Given the description of an element on the screen output the (x, y) to click on. 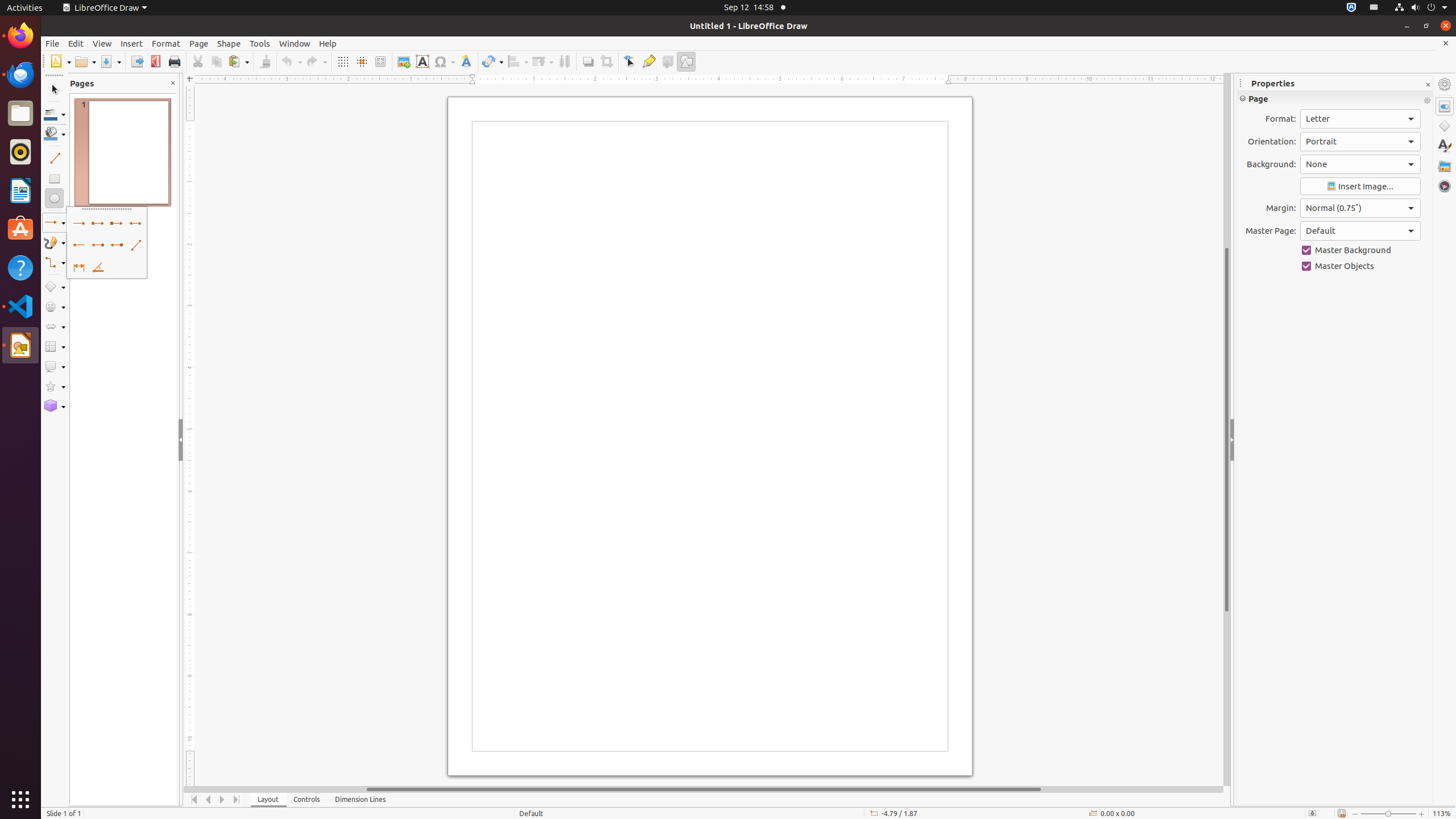
Format Element type: menu (165, 43)
Horizontal scroll bar Element type: scroll-bar (703, 789)
Navigator Element type: radio-button (1444, 185)
Copy Element type: push-button (216, 61)
